Given the description of an element on the screen output the (x, y) to click on. 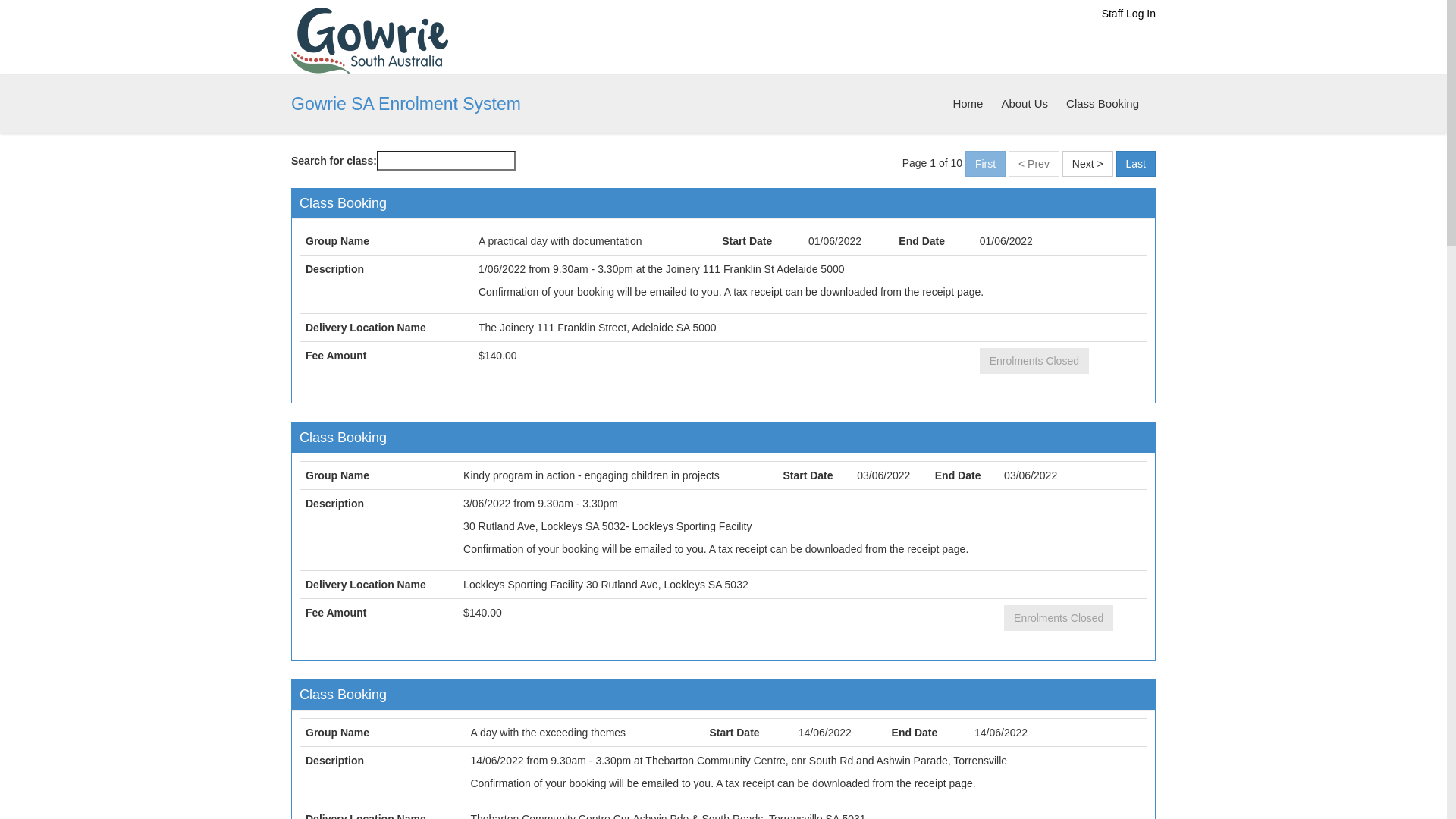
Last Element type: text (1135, 163)
Staff Log In Element type: text (1128, 13)
Home Element type: hover (369, 40)
First Element type: text (985, 163)
Gowrie SA Enrolment System Element type: text (405, 104)
Home Element type: text (967, 103)
< Prev Element type: text (1033, 163)
Next > Element type: text (1087, 163)
About Us Element type: text (1024, 103)
Class Booking Element type: text (1102, 103)
